Given the description of an element on the screen output the (x, y) to click on. 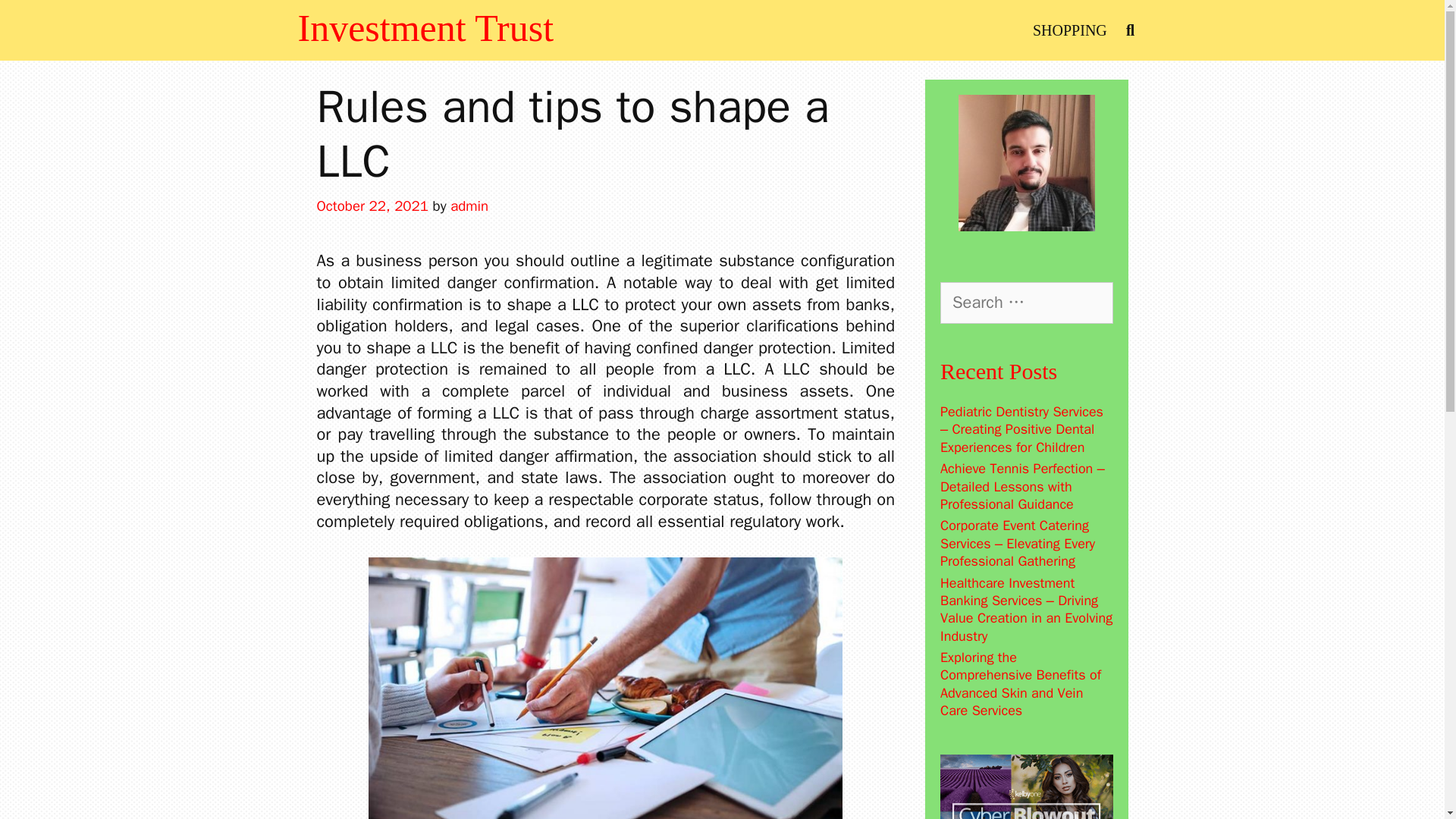
Investment Trust (425, 27)
View all posts by admin (468, 206)
admin (468, 206)
Search (60, 26)
Search (37, 20)
October 22, 2021 (372, 206)
8:09 am (372, 206)
Search for: (1026, 302)
SHOPPING (1069, 30)
